Given the description of an element on the screen output the (x, y) to click on. 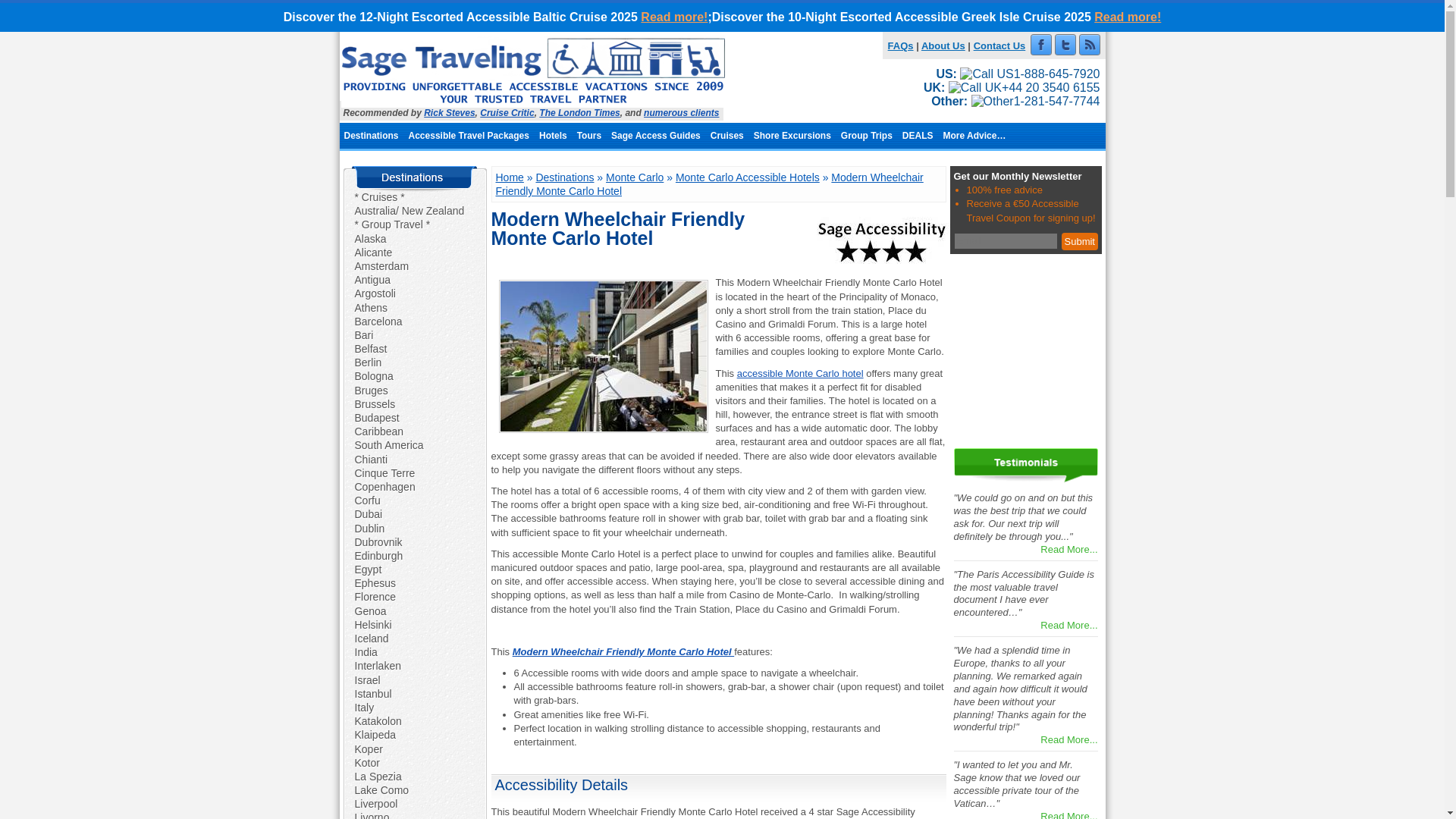
Cruise Critic (507, 112)
Rick Steves (448, 112)
numerous clients (681, 112)
Destinations (370, 135)
FAQs (901, 45)
The London Times (579, 112)
Read more! (673, 16)
Read more! (1127, 16)
About Us (943, 45)
Contact Us (1000, 45)
